Given the description of an element on the screen output the (x, y) to click on. 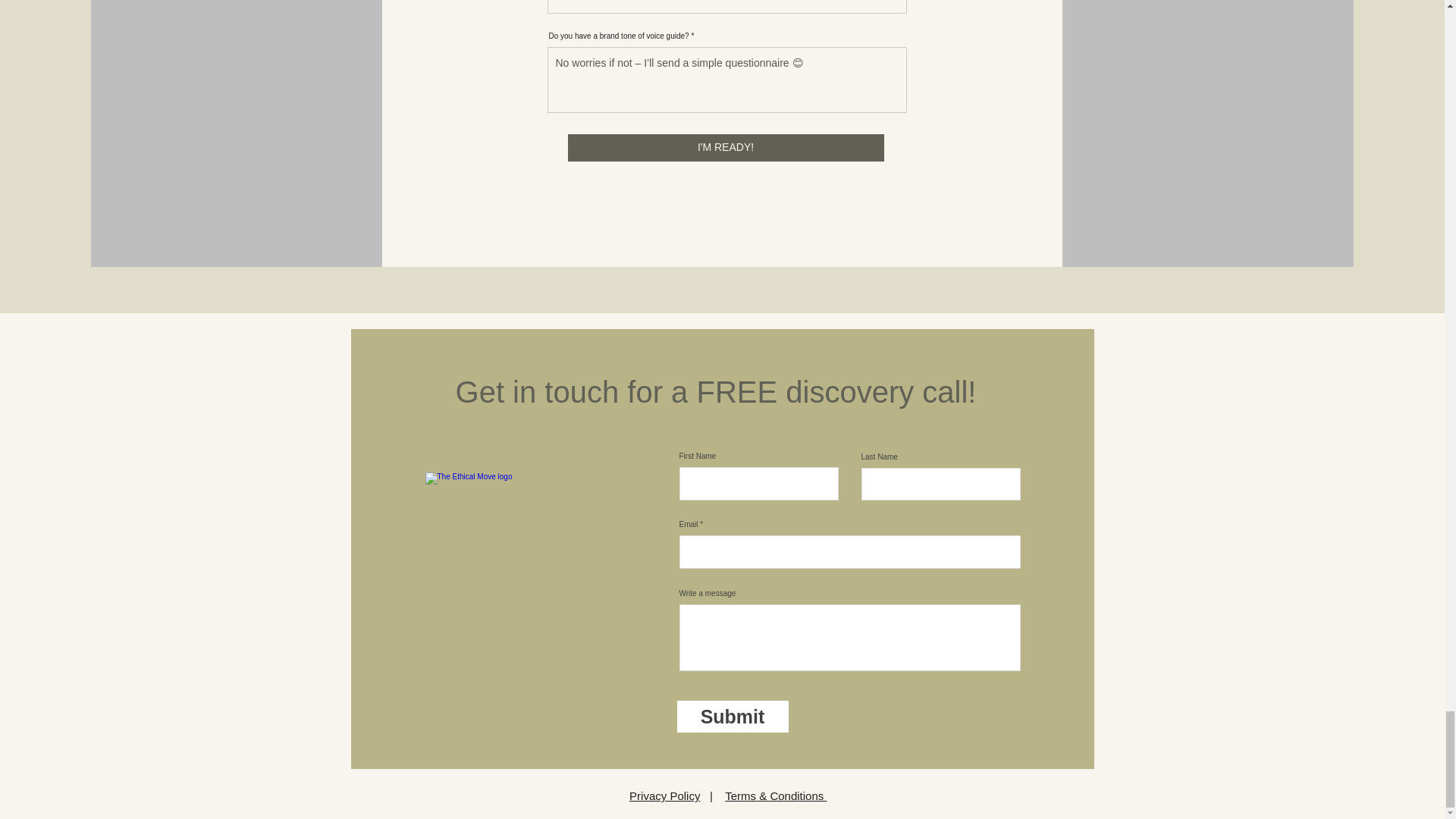
I'M READY! (725, 147)
Submit (732, 716)
pledge badge 2.png (526, 574)
Privacy Policy (664, 795)
